Given the description of an element on the screen output the (x, y) to click on. 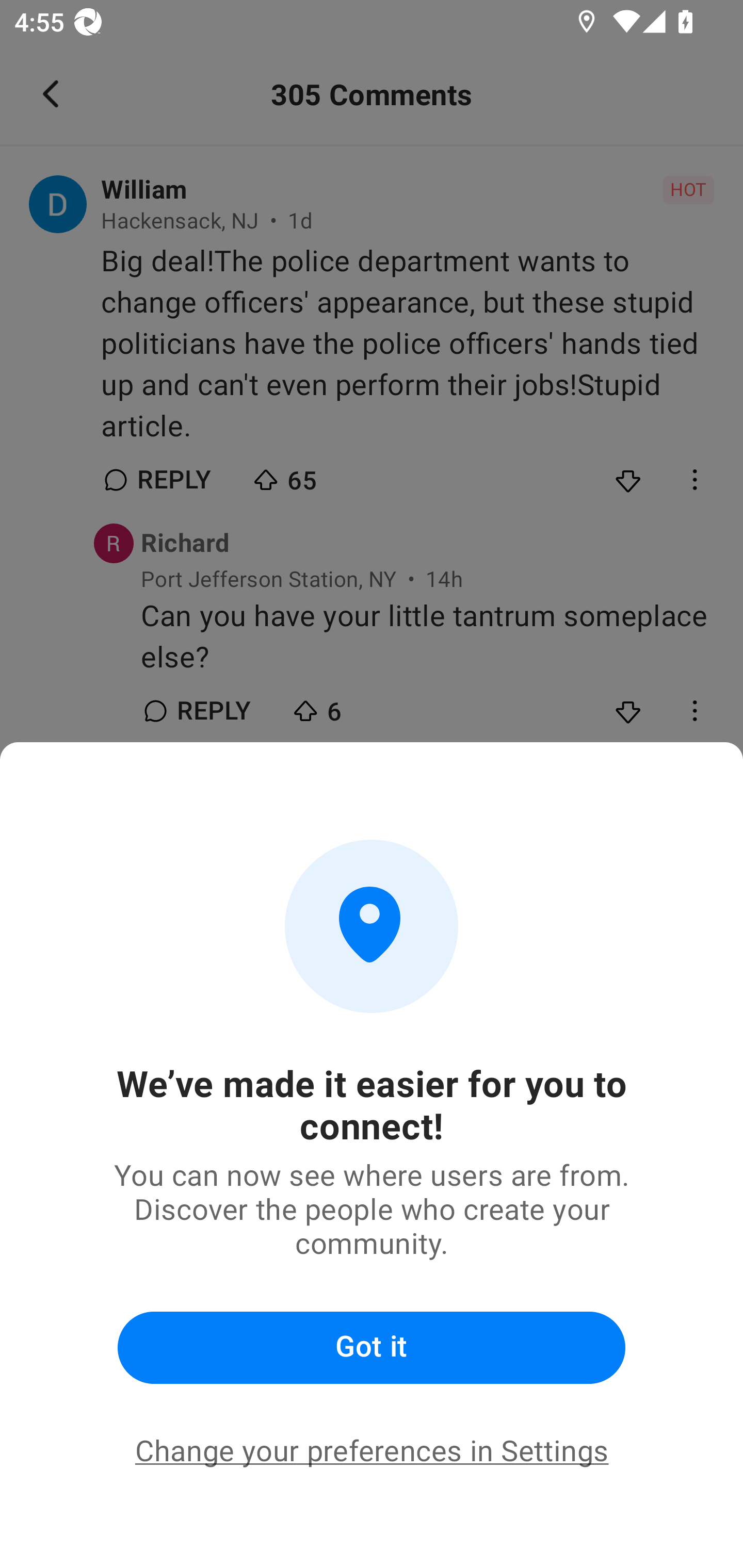
Got it (371, 1348)
Change your preferences in Settings (371, 1451)
